Given the description of an element on the screen output the (x, y) to click on. 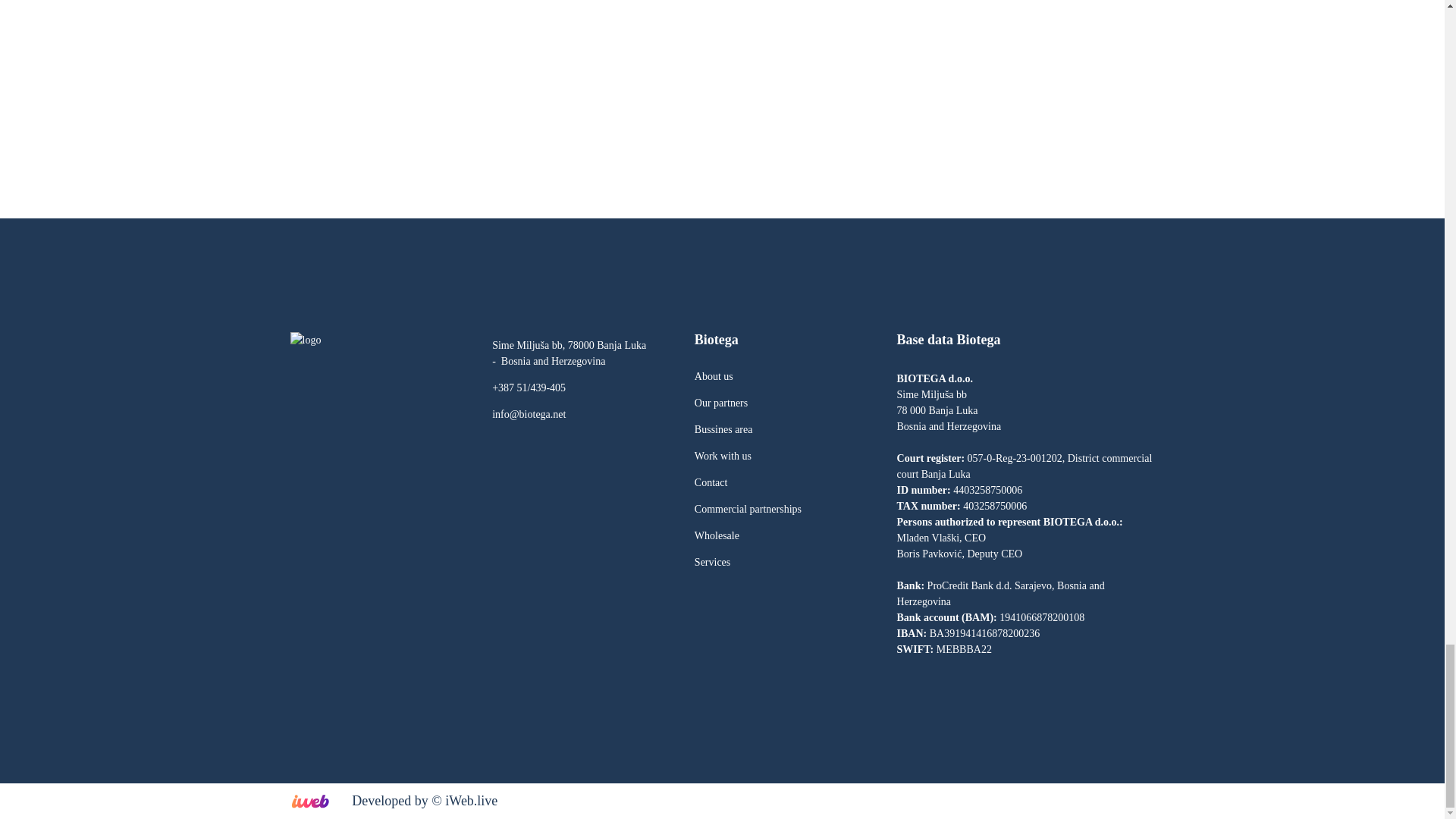
Work with us (722, 455)
Commercial partnerships (748, 509)
Our partners (721, 402)
About us (713, 376)
Bussines area (723, 429)
Wholesale (716, 535)
Contact (711, 482)
Services (712, 562)
